Given the description of an element on the screen output the (x, y) to click on. 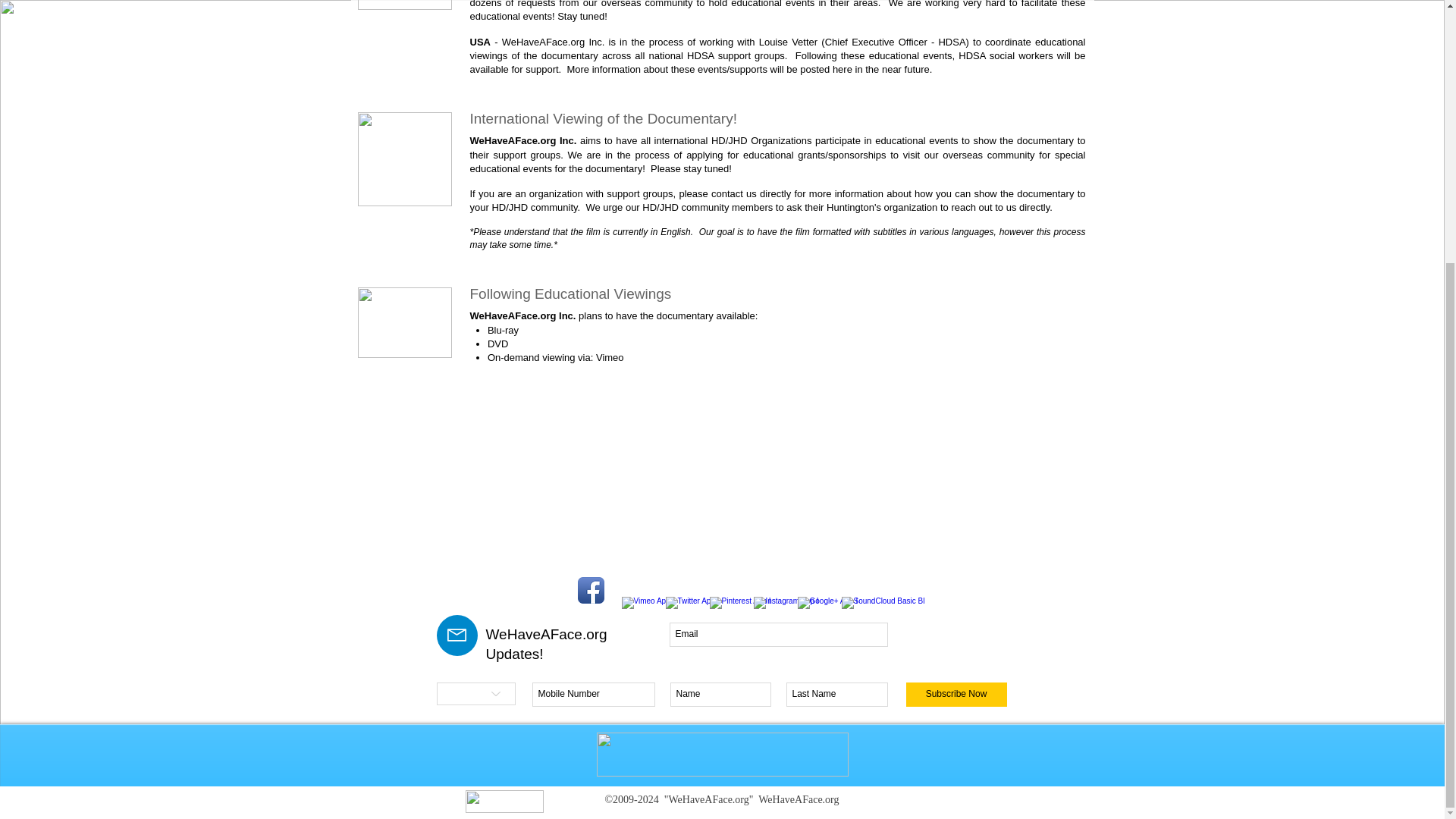
See the Trailer! (404, 4)
Subscribe Now (955, 694)
Email us! (404, 159)
